Given the description of an element on the screen output the (x, y) to click on. 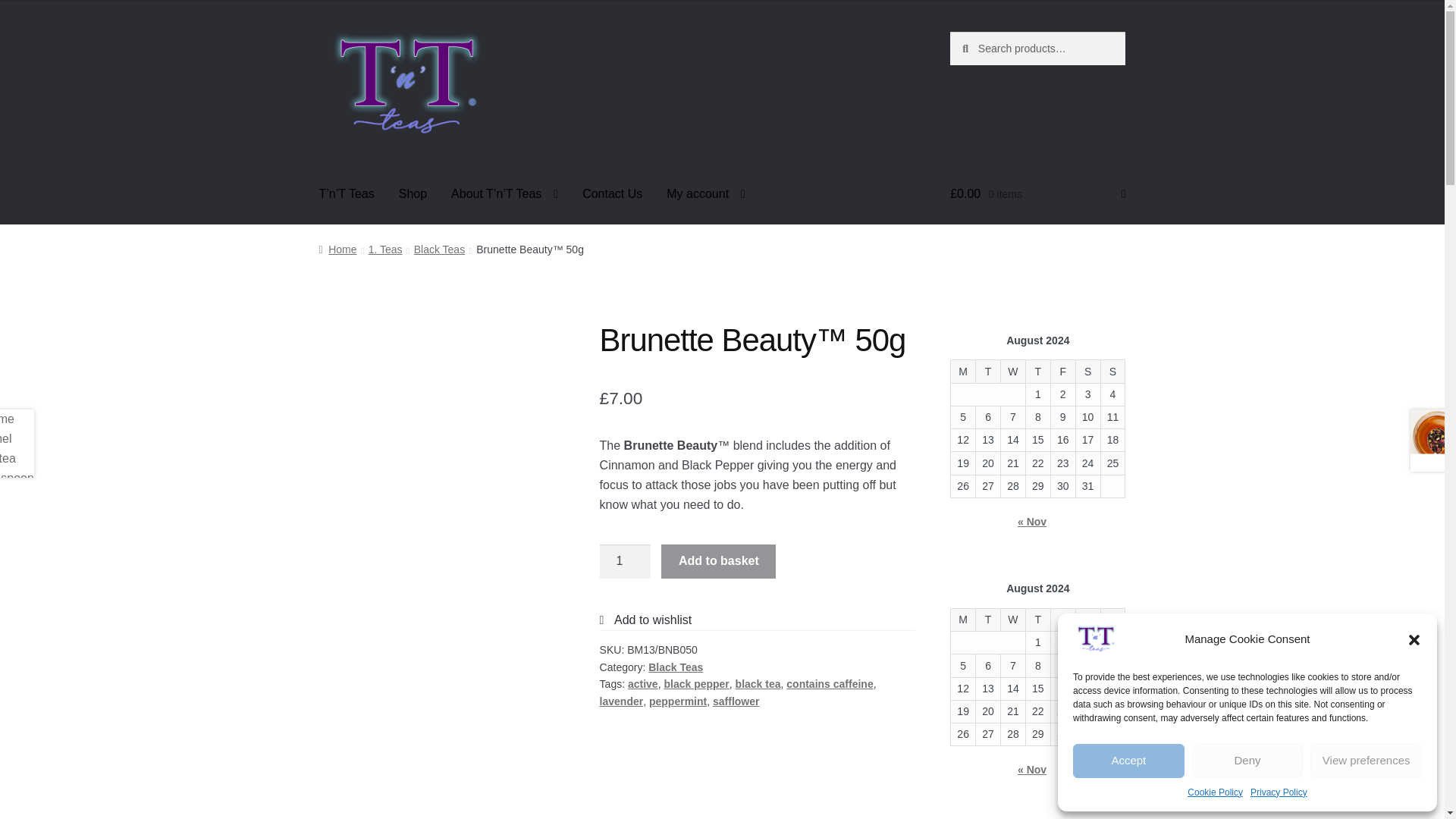
1 (624, 561)
Thursday (1037, 371)
Friday (1062, 371)
Wednesday (1012, 371)
Saturday (1087, 371)
Sunday (1112, 371)
Contact Us (611, 193)
Tuesday (988, 371)
Accept (1129, 760)
Wednesday (1012, 619)
